Given the description of an element on the screen output the (x, y) to click on. 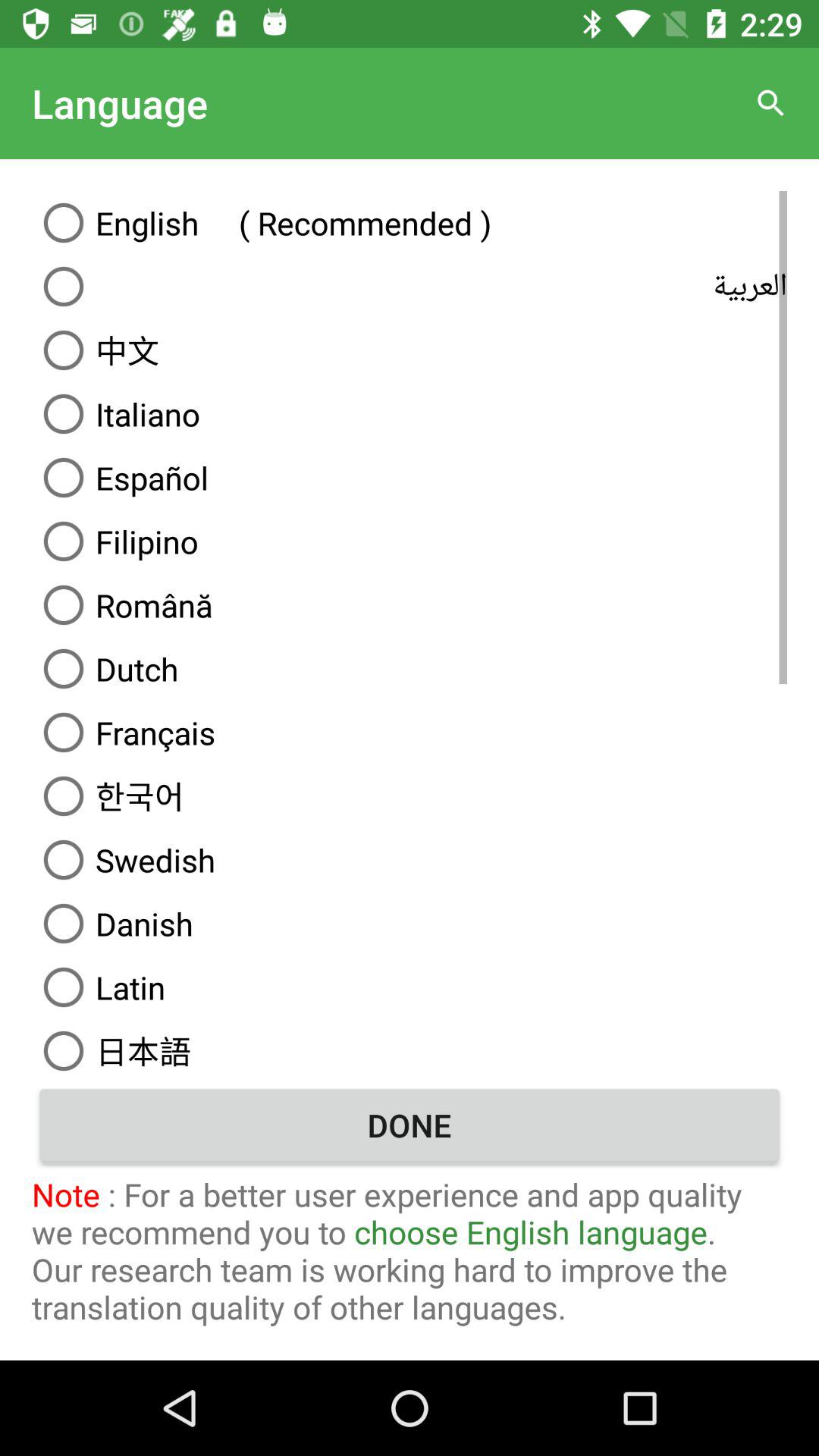
click on done button (409, 1125)
click on the option below filipino (409, 605)
select the language danish (409, 923)
select option above swedish (409, 796)
click on search (771, 103)
